Given the description of an element on the screen output the (x, y) to click on. 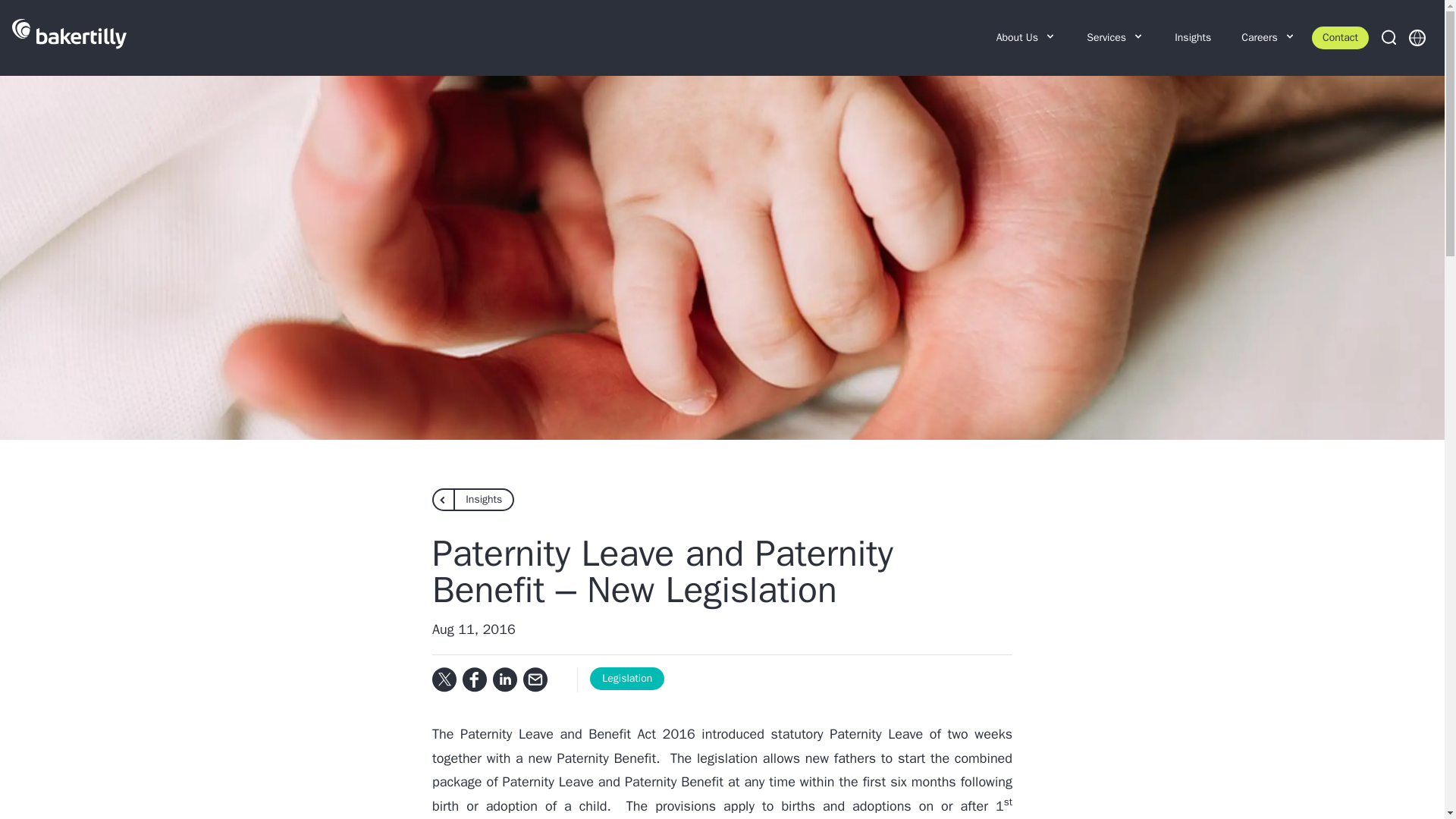
Services (1114, 38)
Go to the Baker Tilly Ireland home page (68, 37)
About Us (1026, 38)
Contact (1339, 37)
Careers (1268, 38)
